Given the description of an element on the screen output the (x, y) to click on. 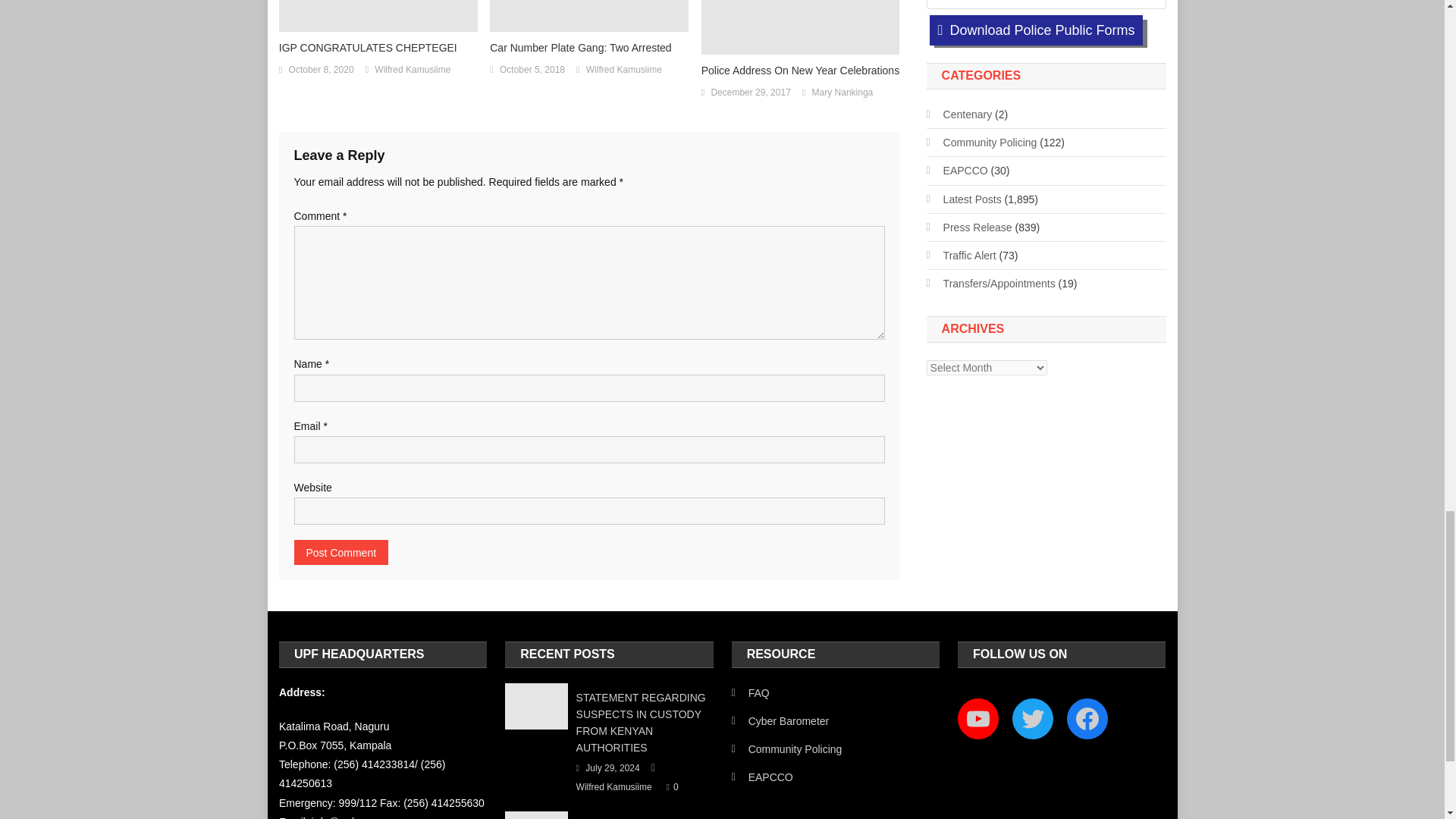
Post Comment (341, 552)
IGP CONGRATULATES CHEPTEGEI (378, 47)
